Given the description of an element on the screen output the (x, y) to click on. 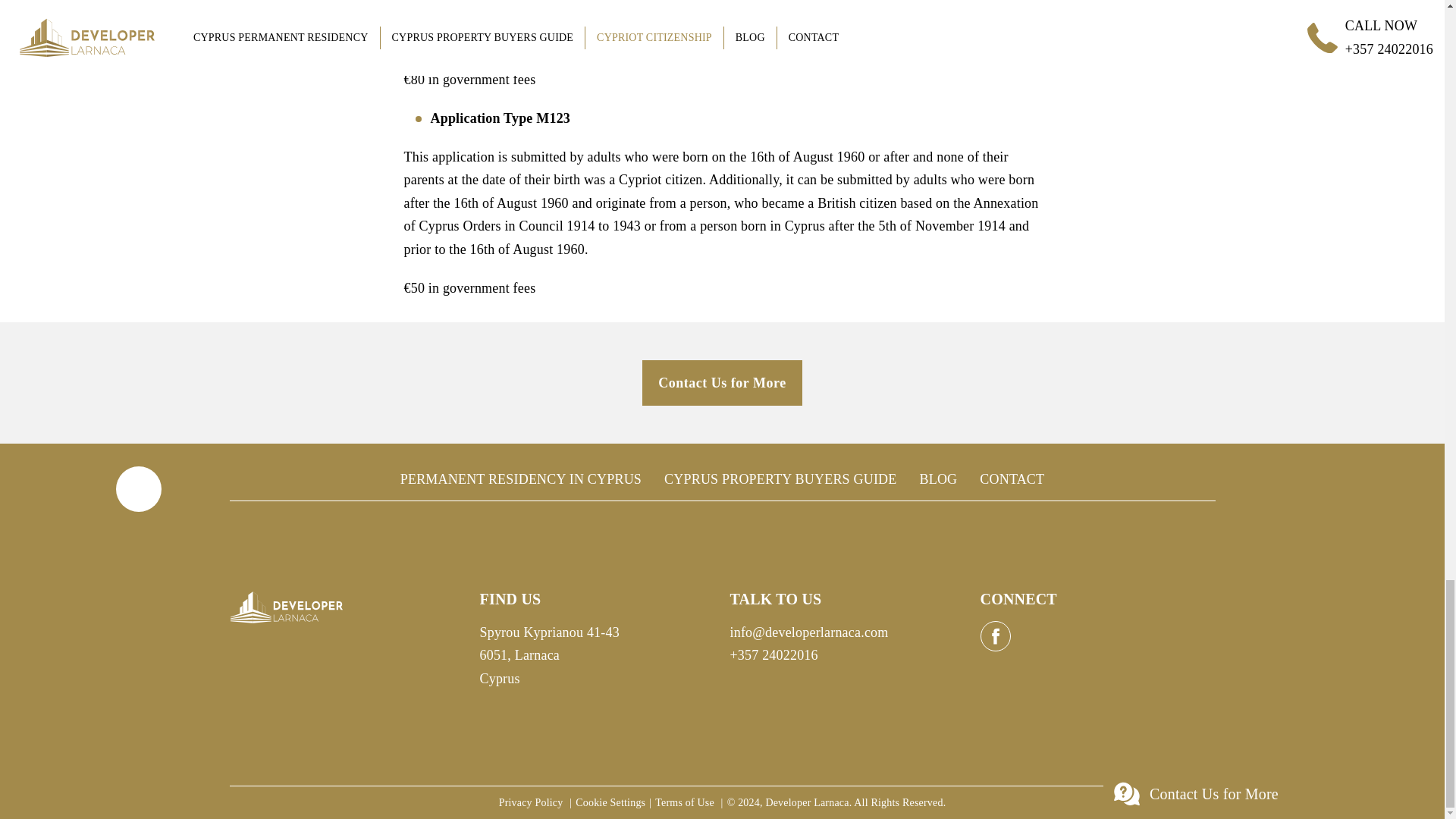
Scroll top (137, 488)
BLOG (937, 478)
Contact Us for More (722, 382)
PERMANENT RESIDENCY IN CYPRUS (521, 478)
Cookie Settings (610, 802)
Terms of Use (685, 802)
Privacy Policy (532, 802)
CYPRUS PROPERTY BUYERS GUIDE (779, 478)
CONTACT (1011, 478)
